Given the description of an element on the screen output the (x, y) to click on. 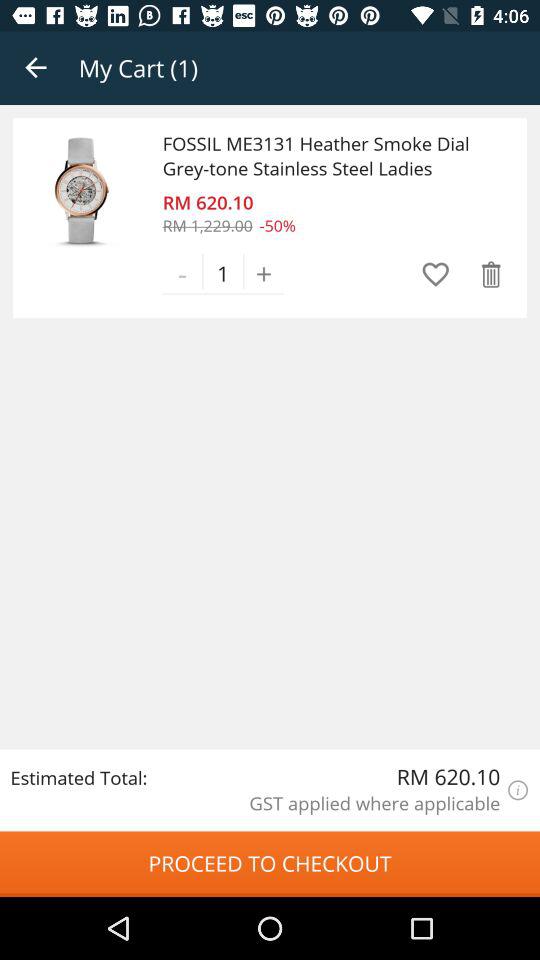
turn on the item next to my cart (1) app (36, 68)
